Given the description of an element on the screen output the (x, y) to click on. 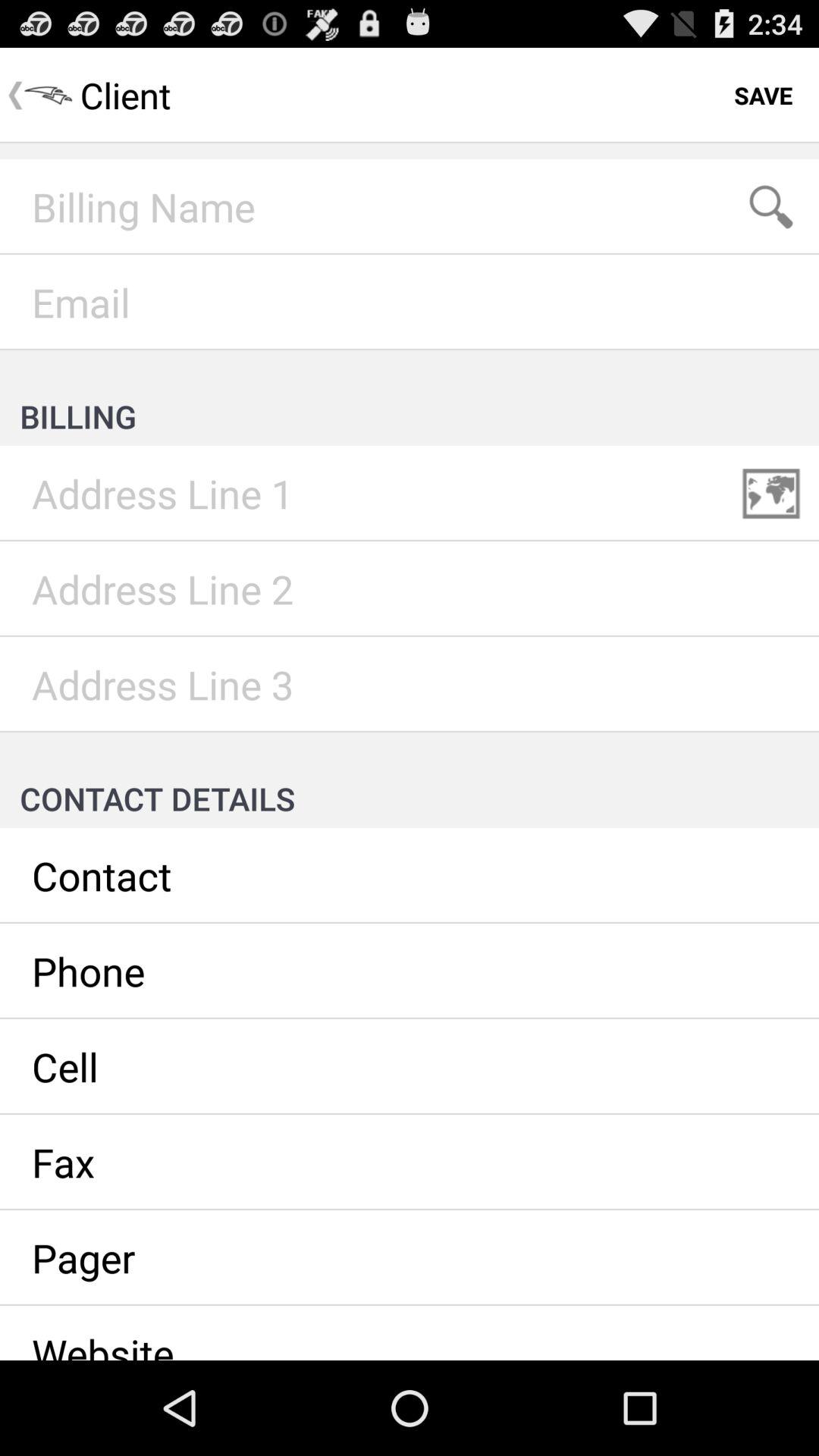
insert address (409, 684)
